Given the description of an element on the screen output the (x, y) to click on. 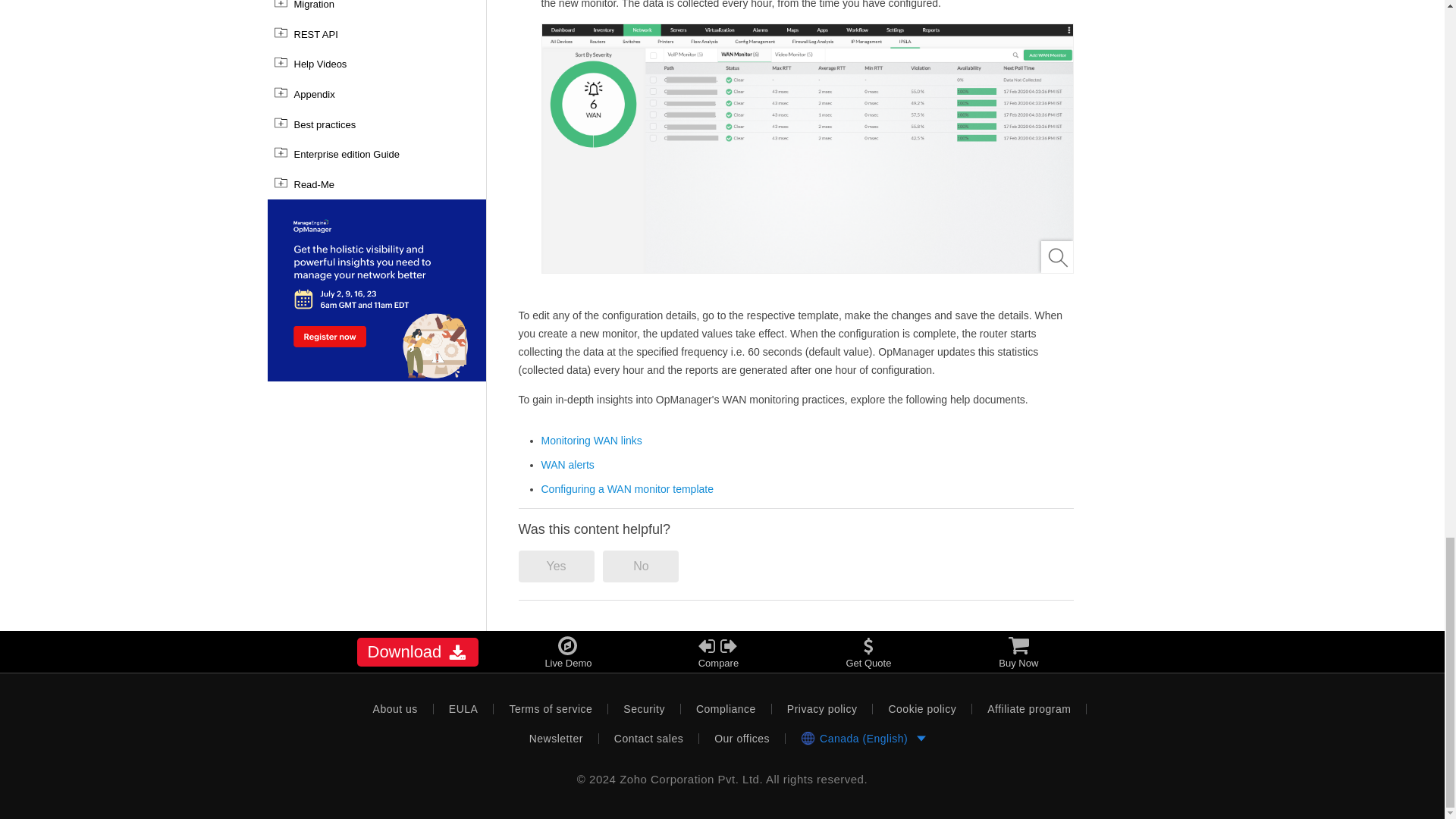
Compliance (726, 708)
EULA (464, 708)
Privacy policy (822, 708)
Our offices (742, 738)
Newsletter (555, 738)
No (640, 566)
Compare Edition - ManageEngine OpManager (718, 651)
Cookie policy (922, 708)
Download ManageEngine OpManager (417, 652)
Yes (556, 566)
Buy Now - ManageEngine OpManager (1018, 651)
Security (644, 708)
Get Quote - ManageEngine OpManager (868, 651)
Contact sales (648, 738)
Live Demo - ManageEngine OpManager (567, 651)
